Given the description of an element on the screen output the (x, y) to click on. 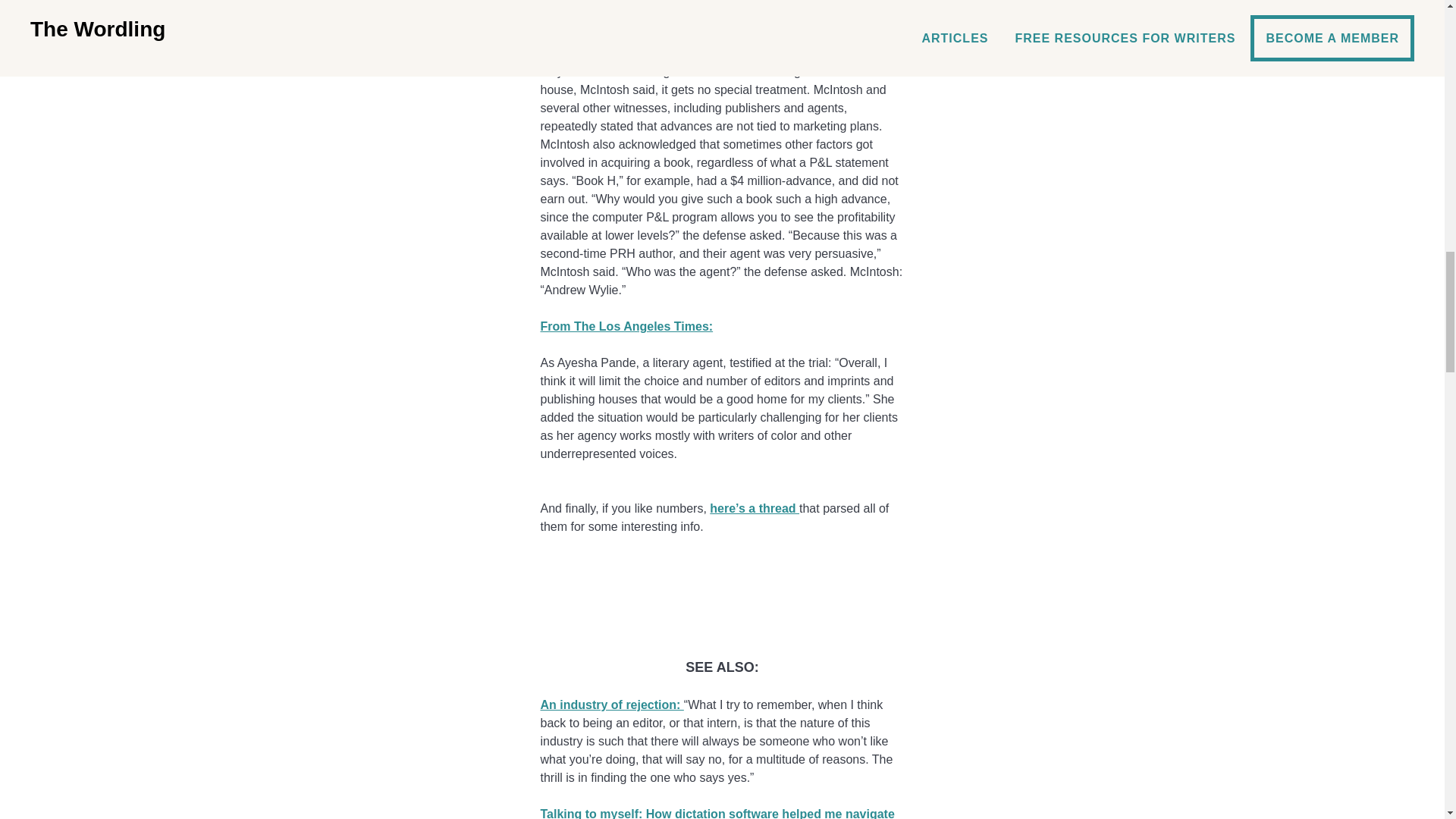
E-Mail (721, 611)
facebook (721, 563)
From The Los Angeles Times: (626, 326)
twitter (721, 587)
An industry of rejection: (611, 704)
From Publishers Weekly: (612, 2)
